Given the description of an element on the screen output the (x, y) to click on. 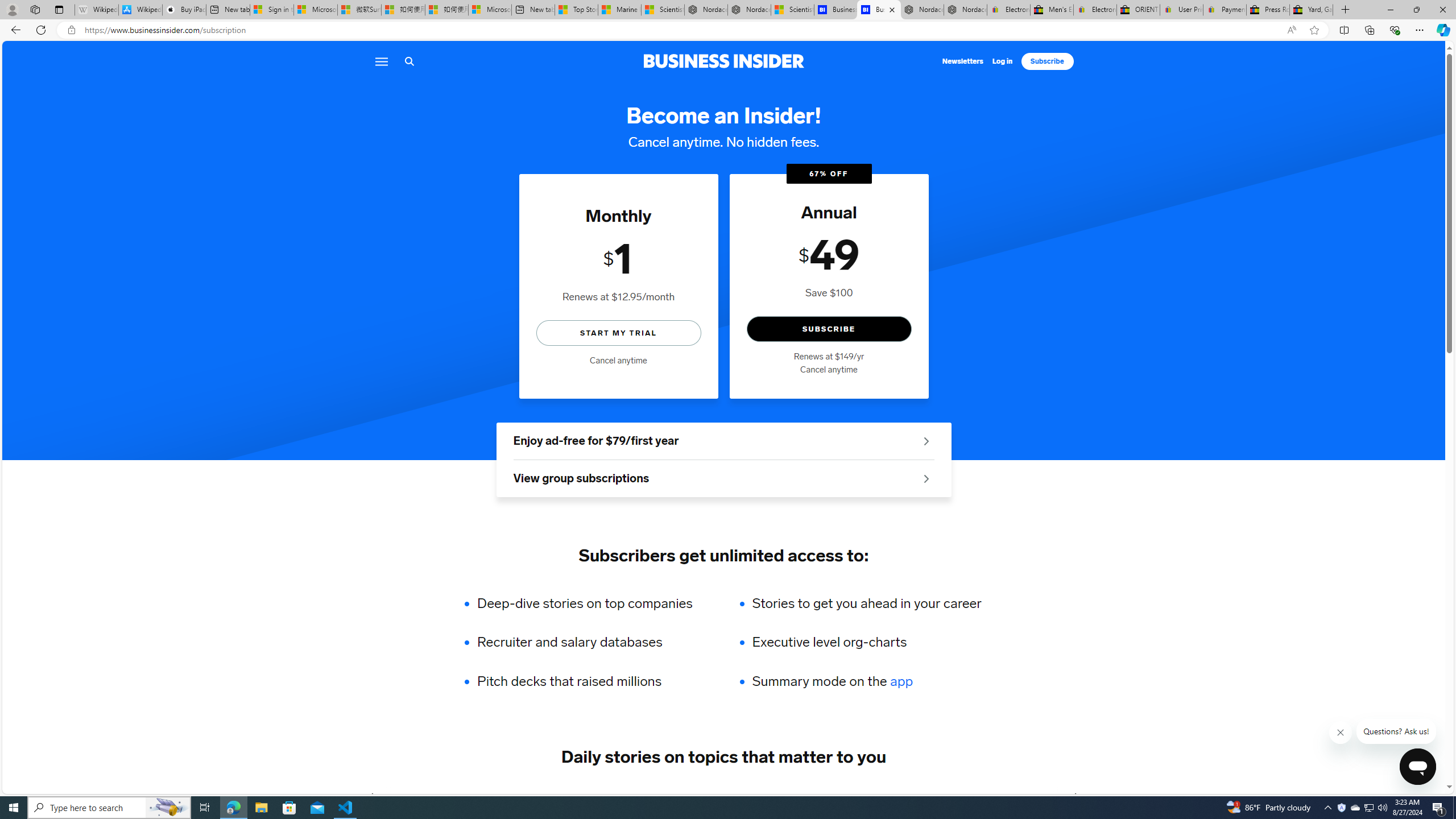
Recruiter and salary databases (592, 642)
Menu (380, 61)
Deep-dive stories on top companies (592, 602)
View group subscriptions See group offers (723, 478)
Stories to get you ahead in your career (866, 602)
Go to the search page. (408, 61)
View group subscriptions (723, 478)
Pitch decks that raised millions (592, 681)
START MY TRIAL (618, 332)
FINANCE (607, 796)
